Given the description of an element on the screen output the (x, y) to click on. 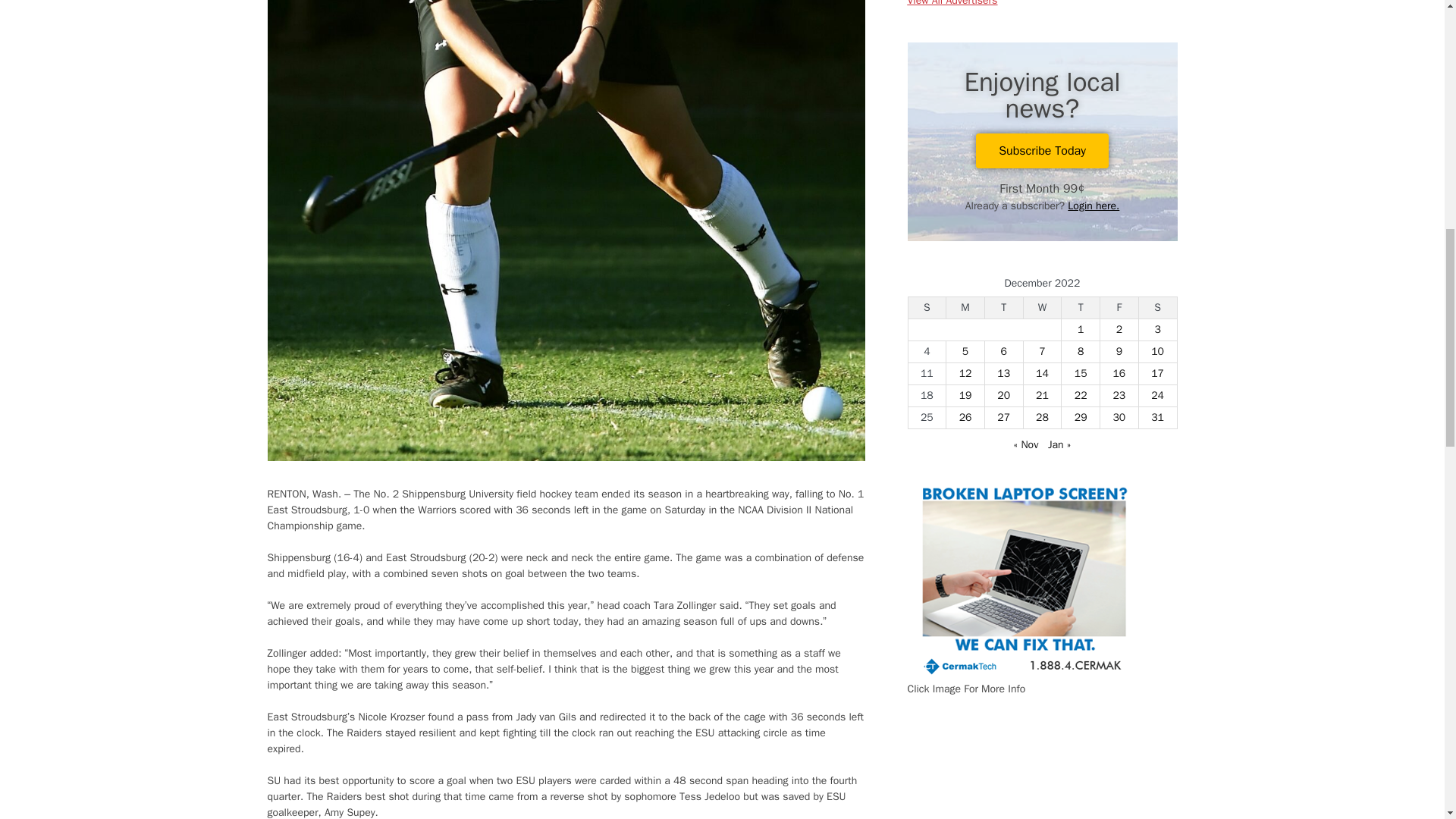
Wednesday (1042, 307)
Tuesday (1003, 307)
Monday (965, 307)
Sunday (926, 307)
Thursday (1080, 307)
